Given the description of an element on the screen output the (x, y) to click on. 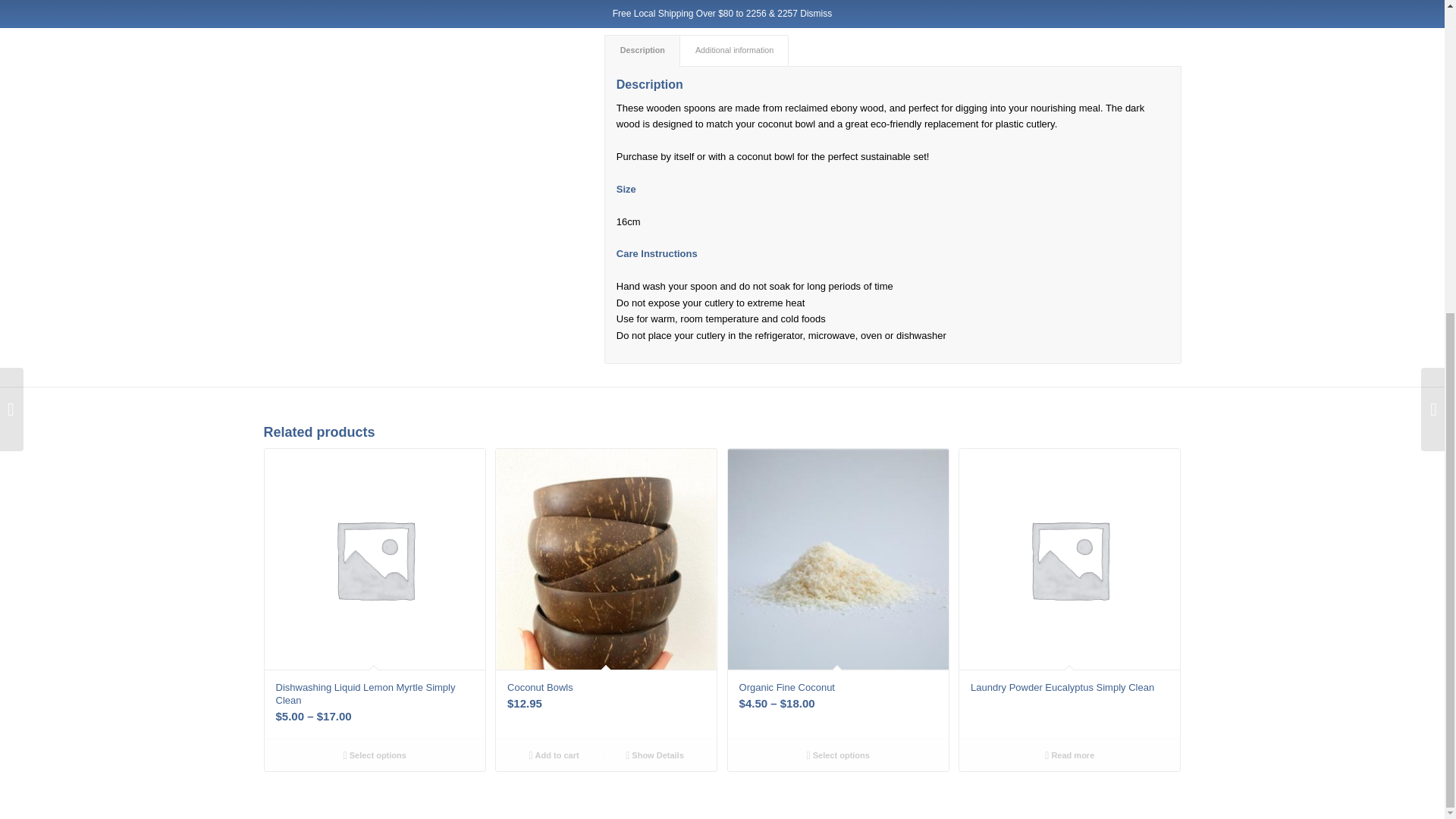
Additional information (734, 50)
Additional information (734, 50)
Add to cart (553, 754)
Show Details (654, 754)
Description (641, 50)
Select options (373, 754)
Select options (837, 754)
Description (641, 50)
Read more (1069, 754)
